Given the description of an element on the screen output the (x, y) to click on. 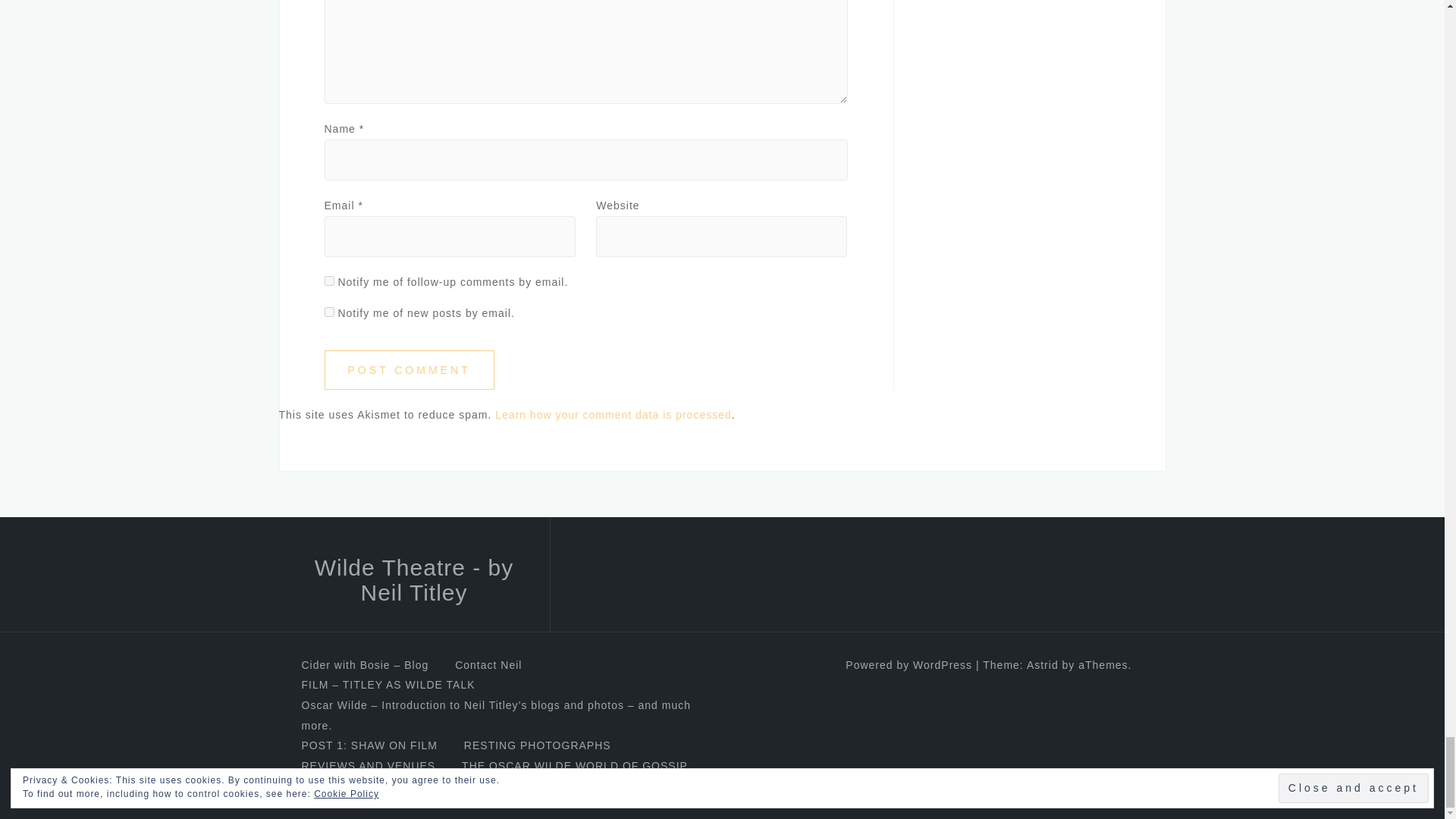
Post Comment (409, 370)
Learn how your comment data is processed (613, 414)
subscribe (329, 311)
subscribe (329, 280)
Post Comment (409, 370)
